Given the description of an element on the screen output the (x, y) to click on. 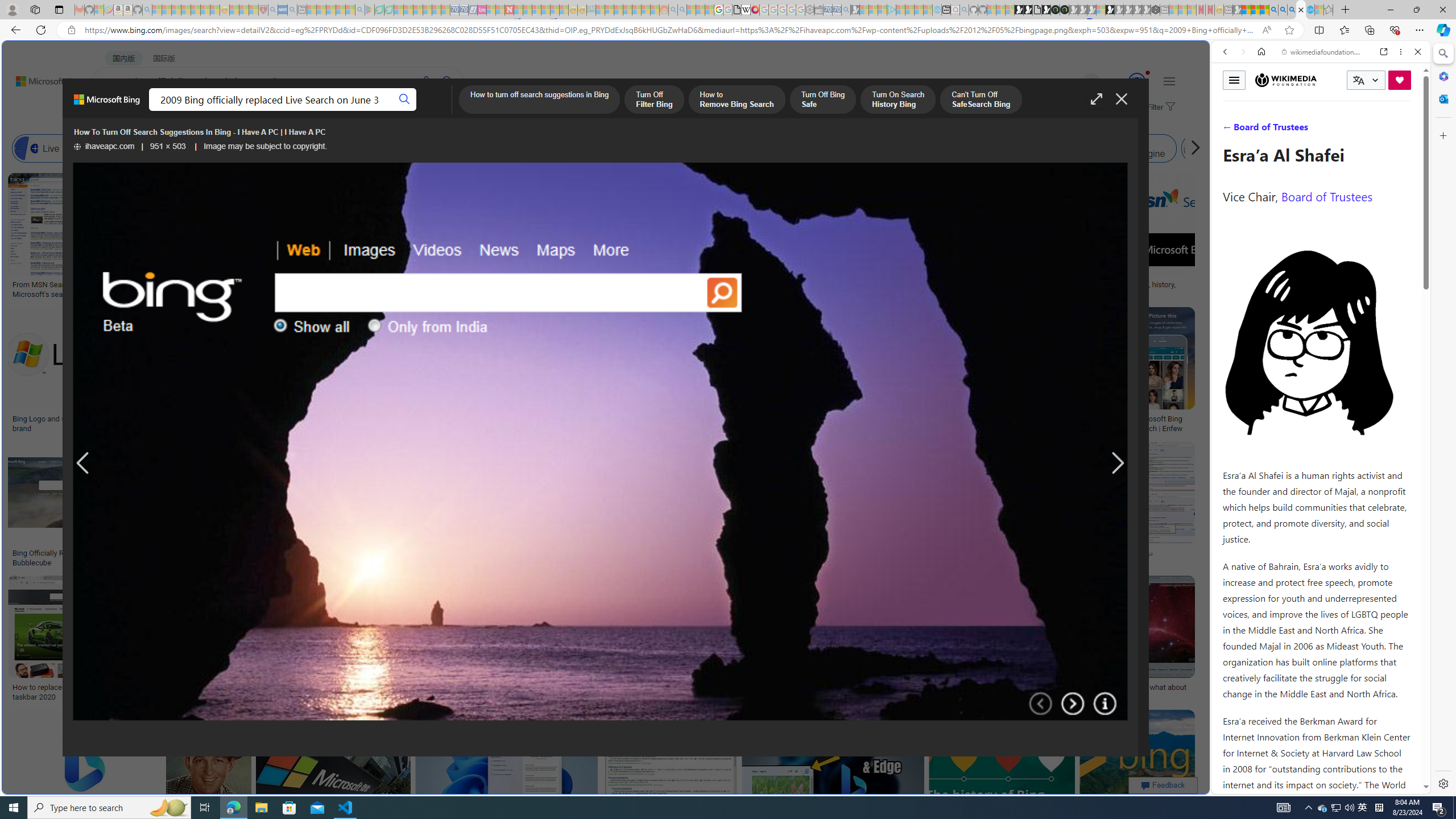
Bing: rebranding search: idsgn (a design blog) (699, 289)
Donate now (1399, 80)
Bing Logo, symbol, meaning, history, PNG, brand (1124, 289)
Microsoft Rewards 84 (1125, 81)
New Report Confirms 2023 Was Record Hot | Watch - Sleeping (195, 9)
MSNBC - MSN - Sleeping (600, 9)
